Given the description of an element on the screen output the (x, y) to click on. 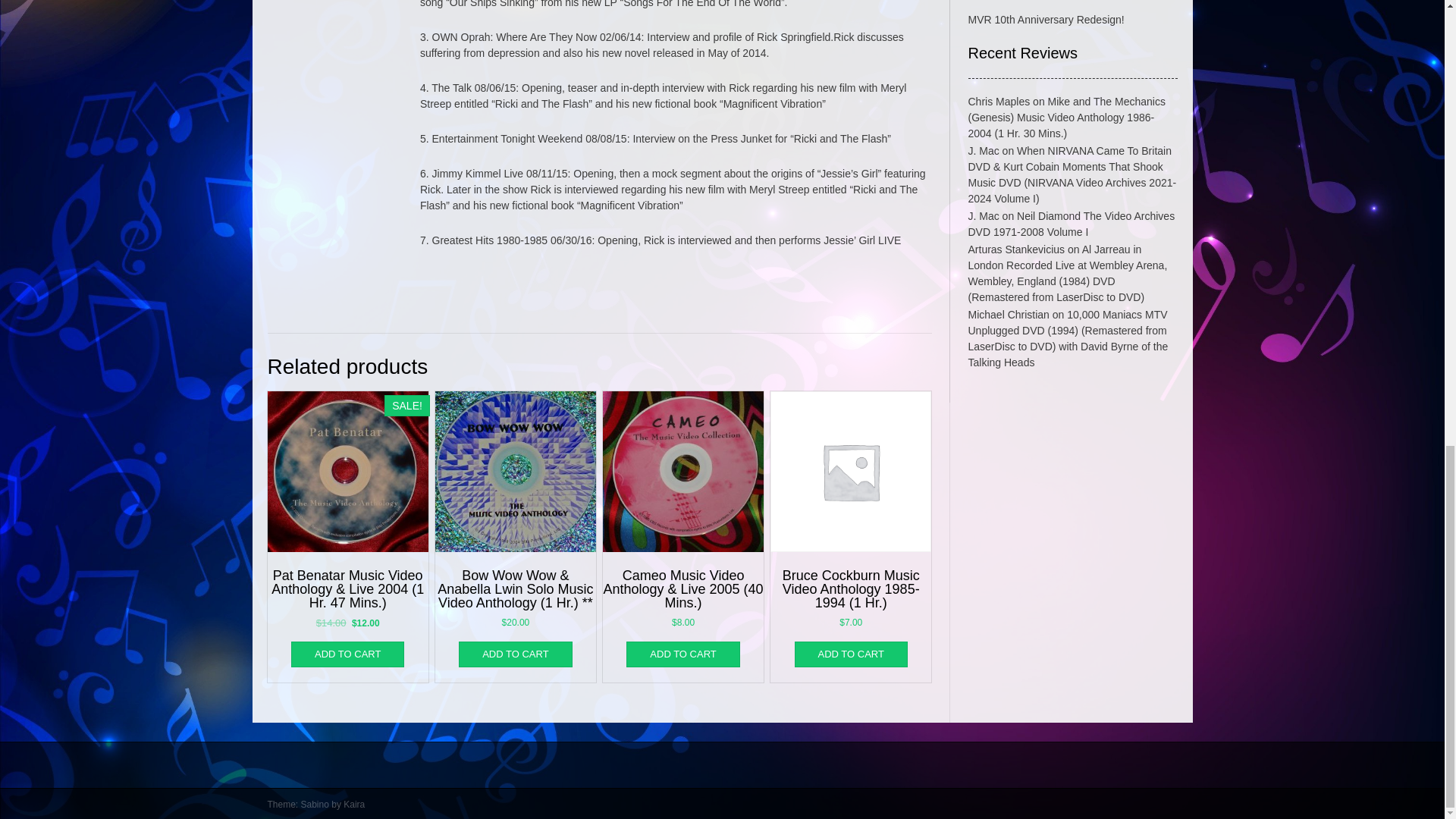
ADD TO CART (682, 654)
ADD TO CART (850, 654)
ADD TO CART (347, 654)
ADD TO CART (515, 654)
